Given the description of an element on the screen output the (x, y) to click on. 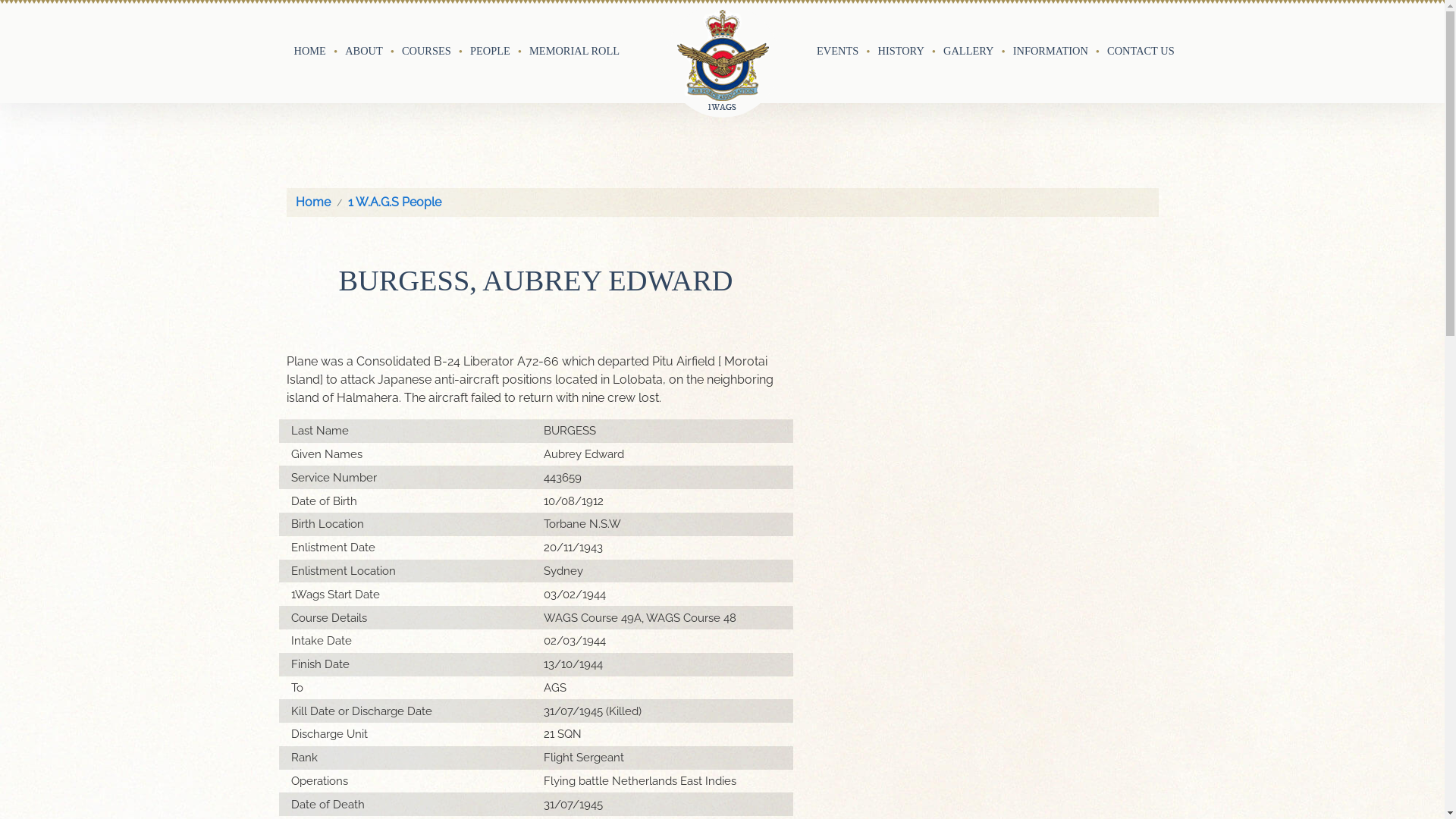
INFORMATION Element type: text (1050, 50)
HOME Element type: text (309, 50)
EVENTS Element type: text (837, 50)
HISTORY Element type: text (900, 50)
ABOUT Element type: text (363, 50)
PEOPLE Element type: text (489, 50)
1 W.A.G.S People Element type: text (394, 201)
No. 1 Wireless Air Gunners School Ballarat Element type: hover (722, 60)
MEMORIAL ROLL Element type: text (574, 50)
CONTACT US Element type: text (1140, 50)
COURSES Element type: text (426, 50)
Home Element type: text (312, 201)
GALLERY Element type: text (968, 50)
